Given the description of an element on the screen output the (x, y) to click on. 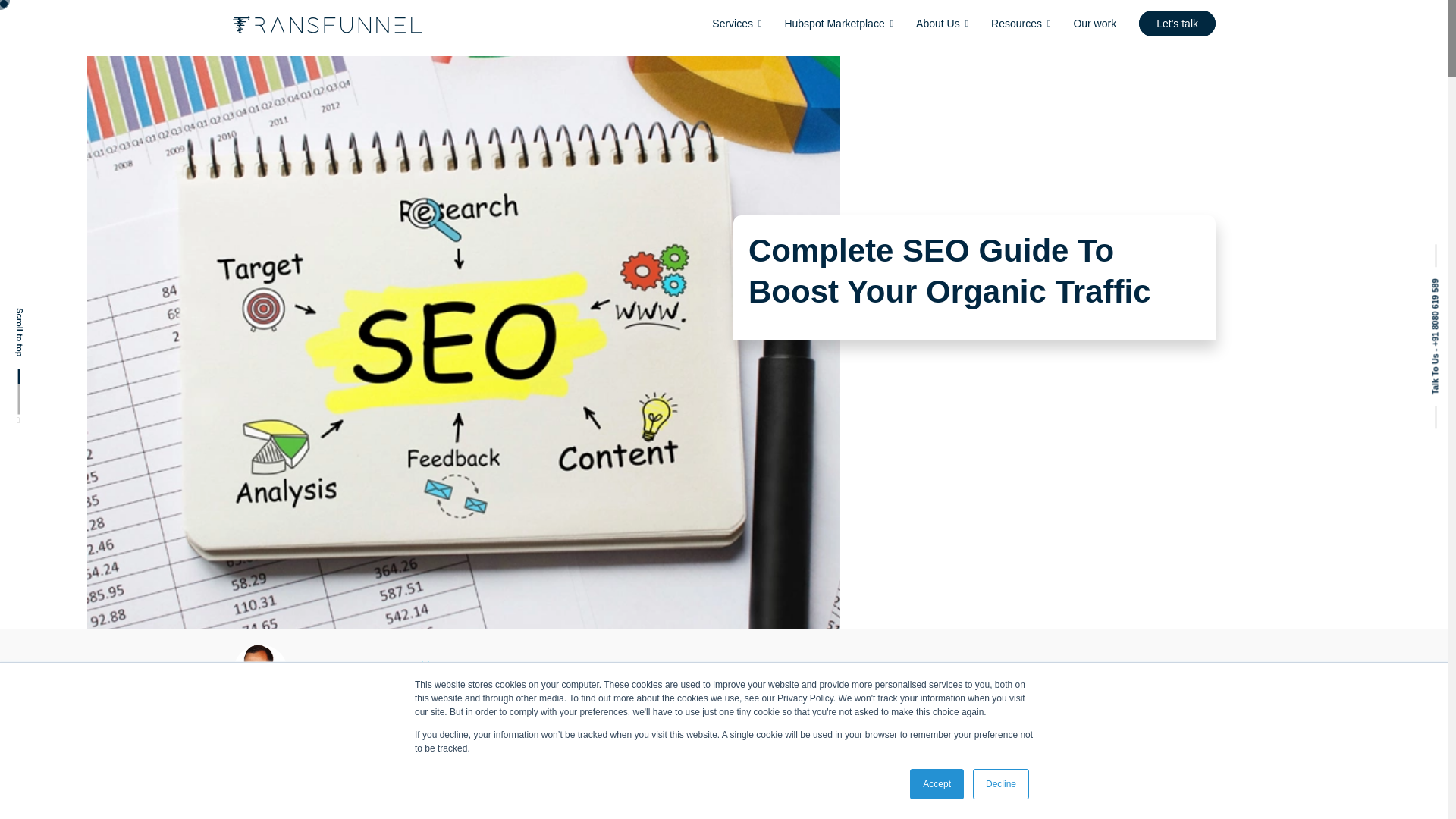
Services (736, 24)
logo (327, 24)
Decline (1000, 784)
Accept (936, 784)
